Given the description of an element on the screen output the (x, y) to click on. 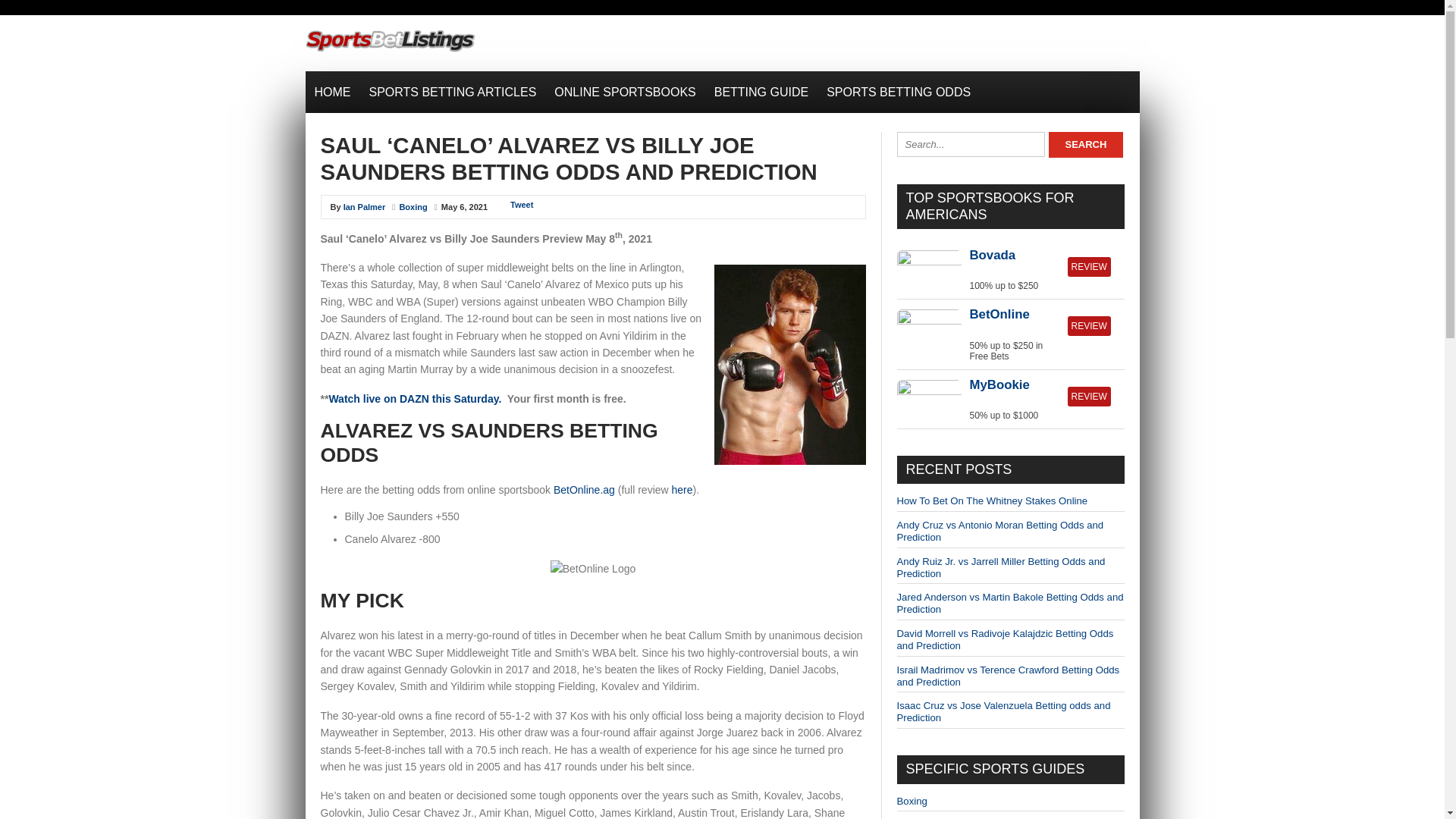
HOME (331, 92)
REVIEW (1088, 325)
MyBookie (999, 384)
SPORTS BETTING ODDS (897, 92)
Boxing (412, 206)
Ian Palmer (364, 206)
How To Bet On The Whitney Stakes Online (991, 500)
BetOnline (999, 314)
Bovada (991, 255)
Andy Cruz vs Antonio Moran Betting Odds and Prediction (999, 530)
